Given the description of an element on the screen output the (x, y) to click on. 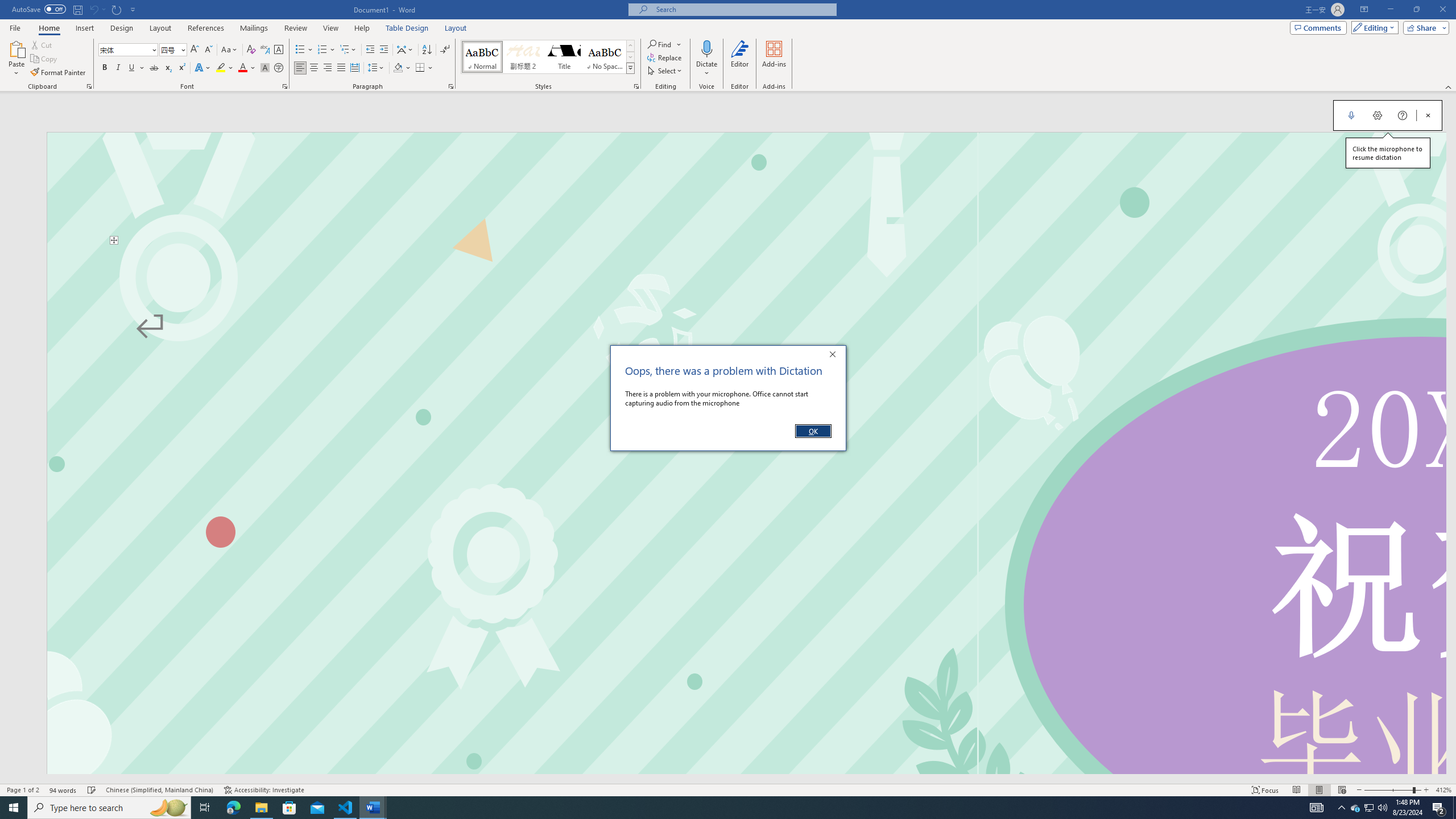
Font Color Red (241, 67)
